Given the description of an element on the screen output the (x, y) to click on. 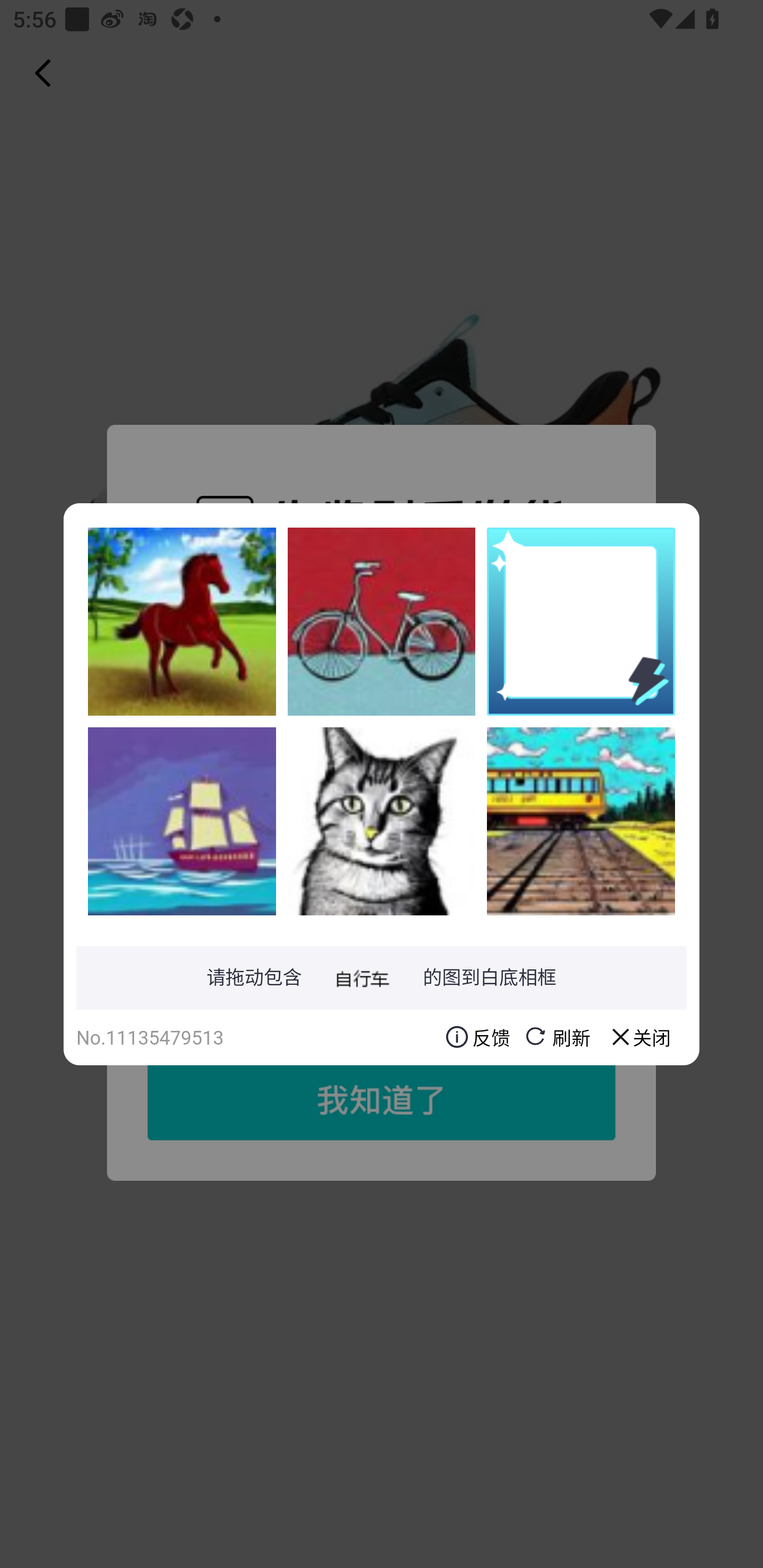
UVYaNqgn9evVNVCHDR0sy5YultnBM2X7tlh16w2ybX (381, 820)
IKLueu4X (580, 820)
